Given the description of an element on the screen output the (x, y) to click on. 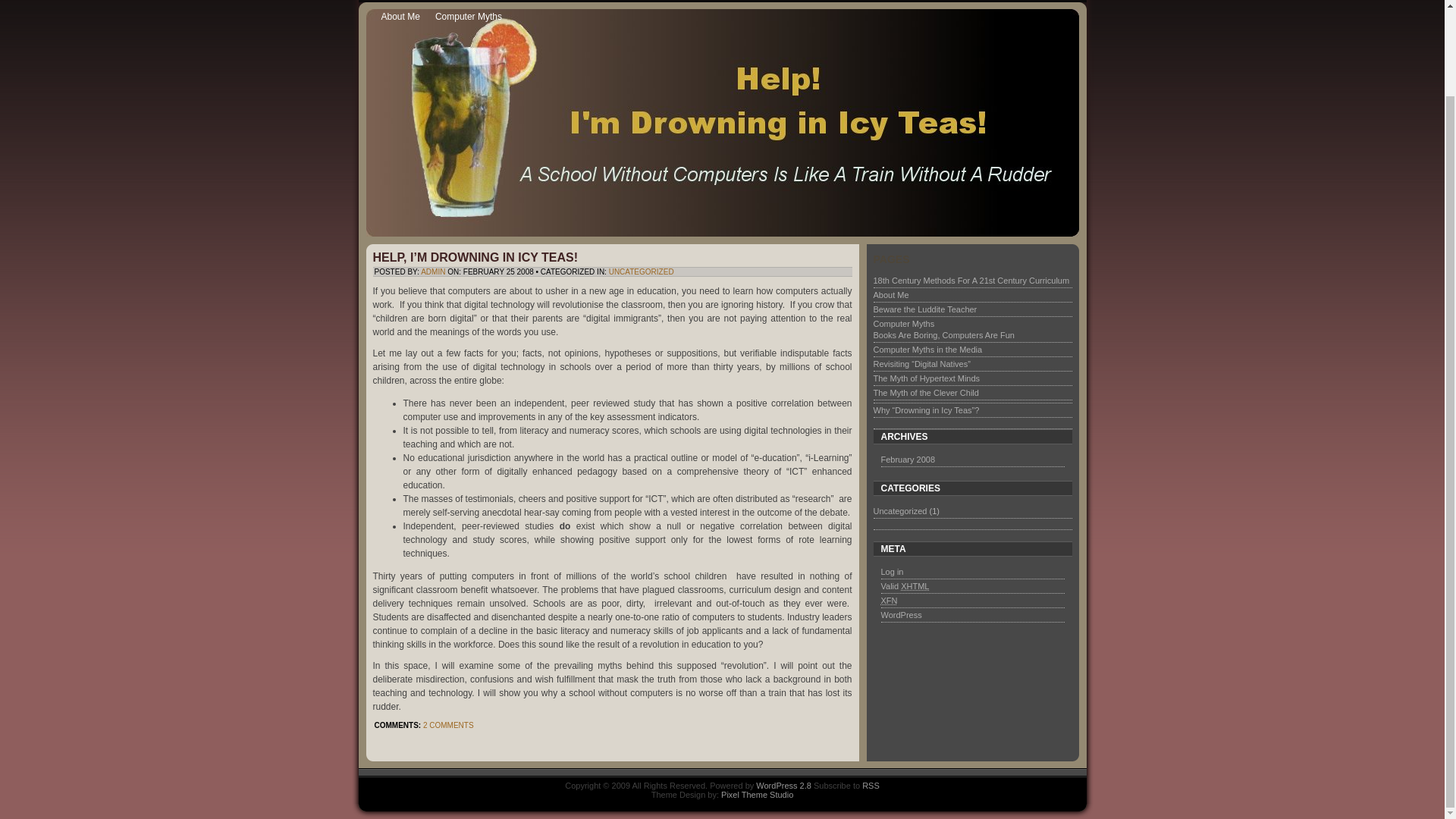
The Myth of Hypertext Minds (926, 377)
eXtensible HyperText Markup Language (914, 585)
Posts by Admin (432, 271)
18th Century Methods For A 21st Century Curriculum (658, 1)
Log in (892, 571)
UNCATEGORIZED (641, 271)
XFN (889, 600)
2 COMMENTS (448, 725)
About Me (890, 295)
